Given the description of an element on the screen output the (x, y) to click on. 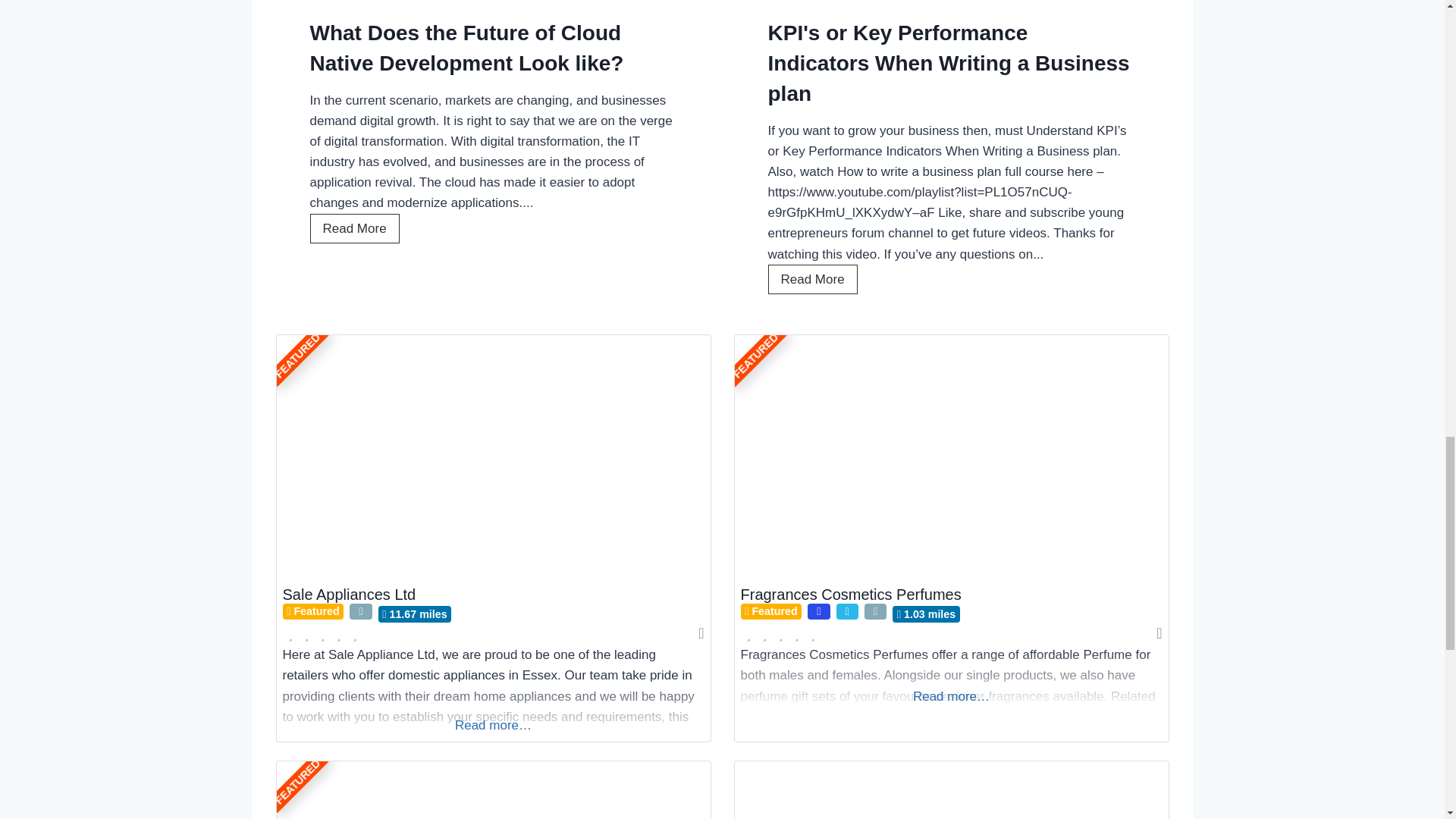
Distance from the current listing, click for directions. (925, 613)
View: Fragrances Cosmetics Perfumes (849, 594)
No rating yet! (780, 634)
No rating yet! (322, 634)
Distance from the current listing, click for directions. (414, 613)
View: Sale Appliances Ltd (348, 594)
dfdsha (950, 790)
